Given the description of an element on the screen output the (x, y) to click on. 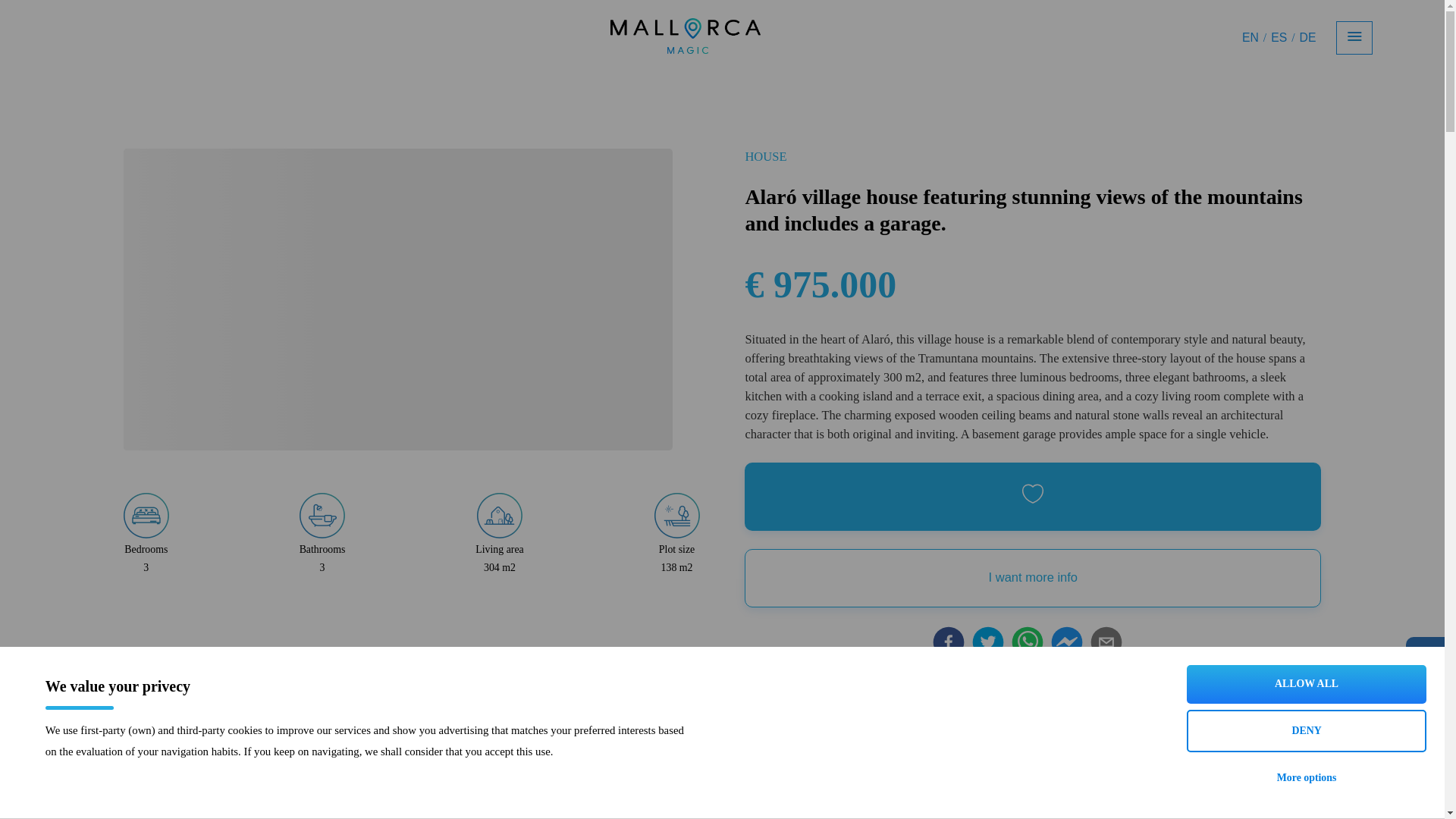
I want more info (1032, 577)
EN (1250, 37)
ES (1278, 37)
EN (1250, 37)
DE (1307, 37)
DE (1307, 37)
ES (1278, 37)
